Given the description of an element on the screen output the (x, y) to click on. 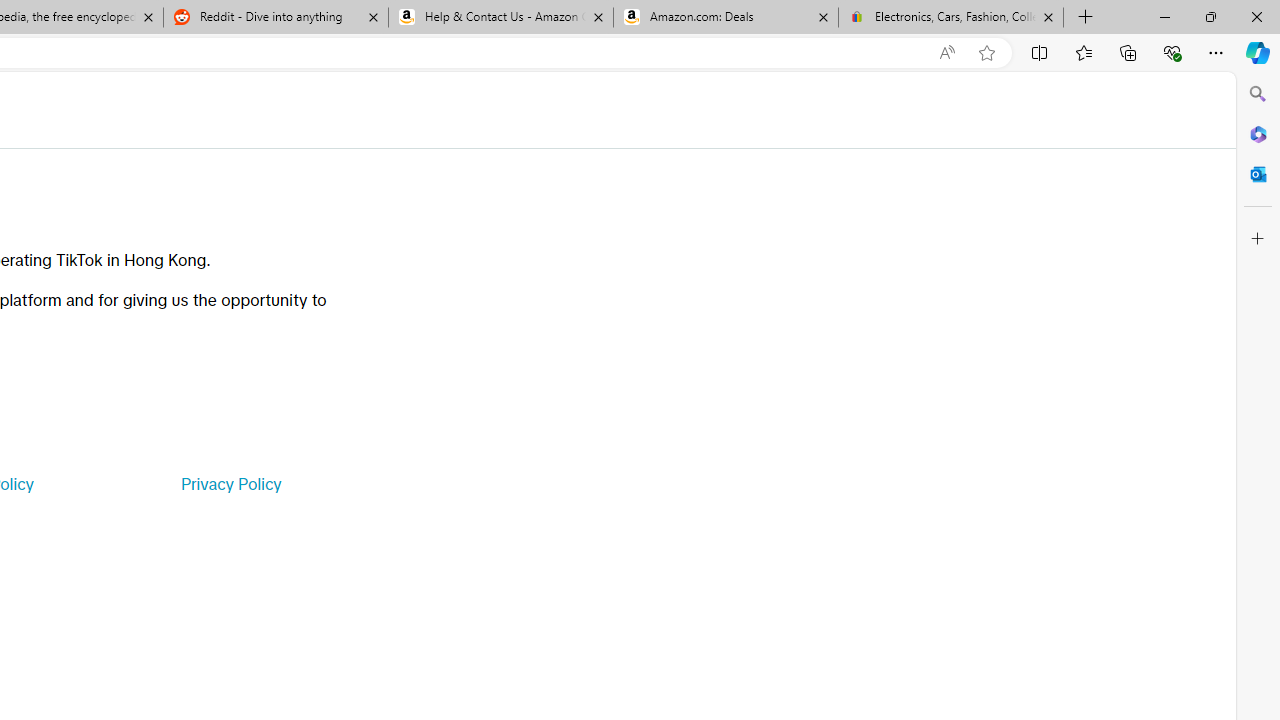
Help & Contact Us - Amazon Customer Service (501, 17)
